Given the description of an element on the screen output the (x, y) to click on. 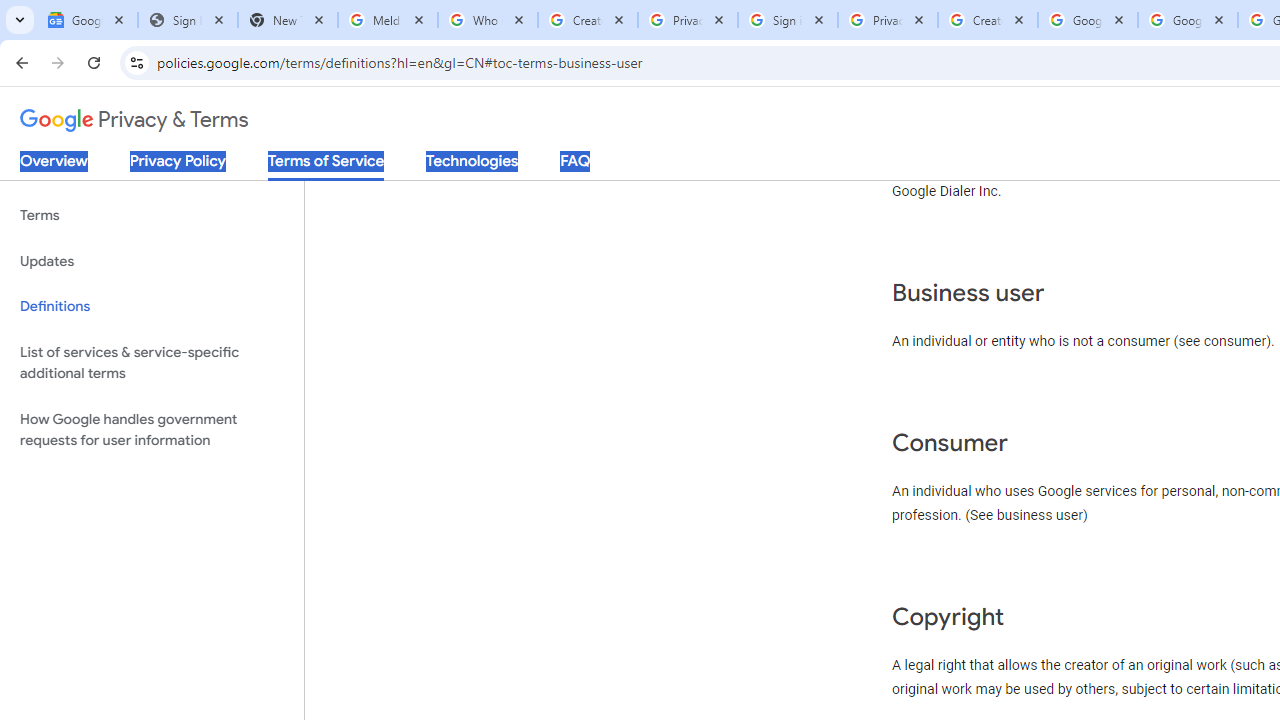
Sign In - USA TODAY (188, 20)
Create your Google Account (587, 20)
List of services & service-specific additional terms (152, 362)
